Given the description of an element on the screen output the (x, y) to click on. 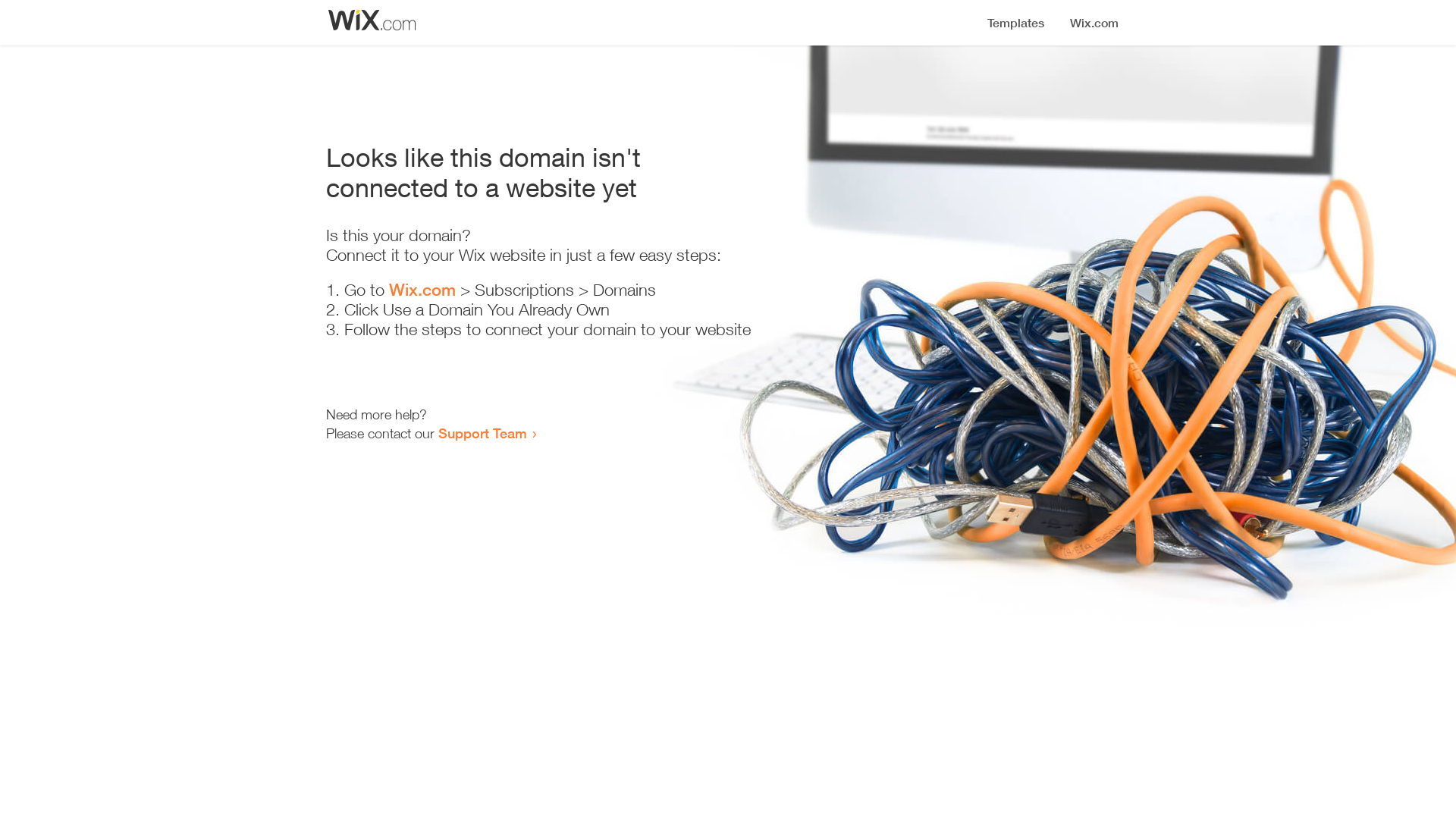
Wix.com Element type: text (422, 289)
Support Team Element type: text (482, 432)
